Given the description of an element on the screen output the (x, y) to click on. 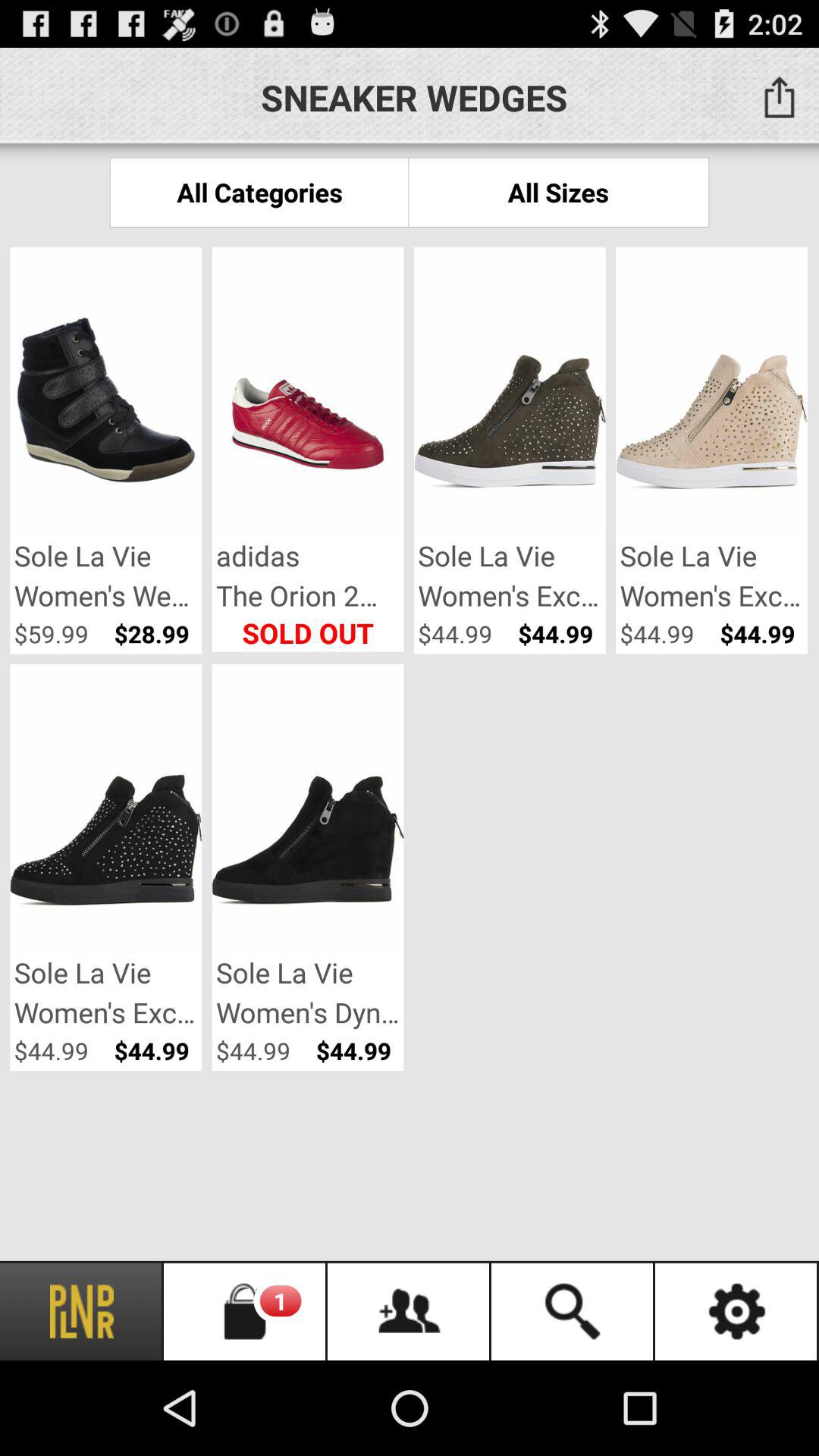
swipe to the all sizes (558, 192)
